Given the description of an element on the screen output the (x, y) to click on. 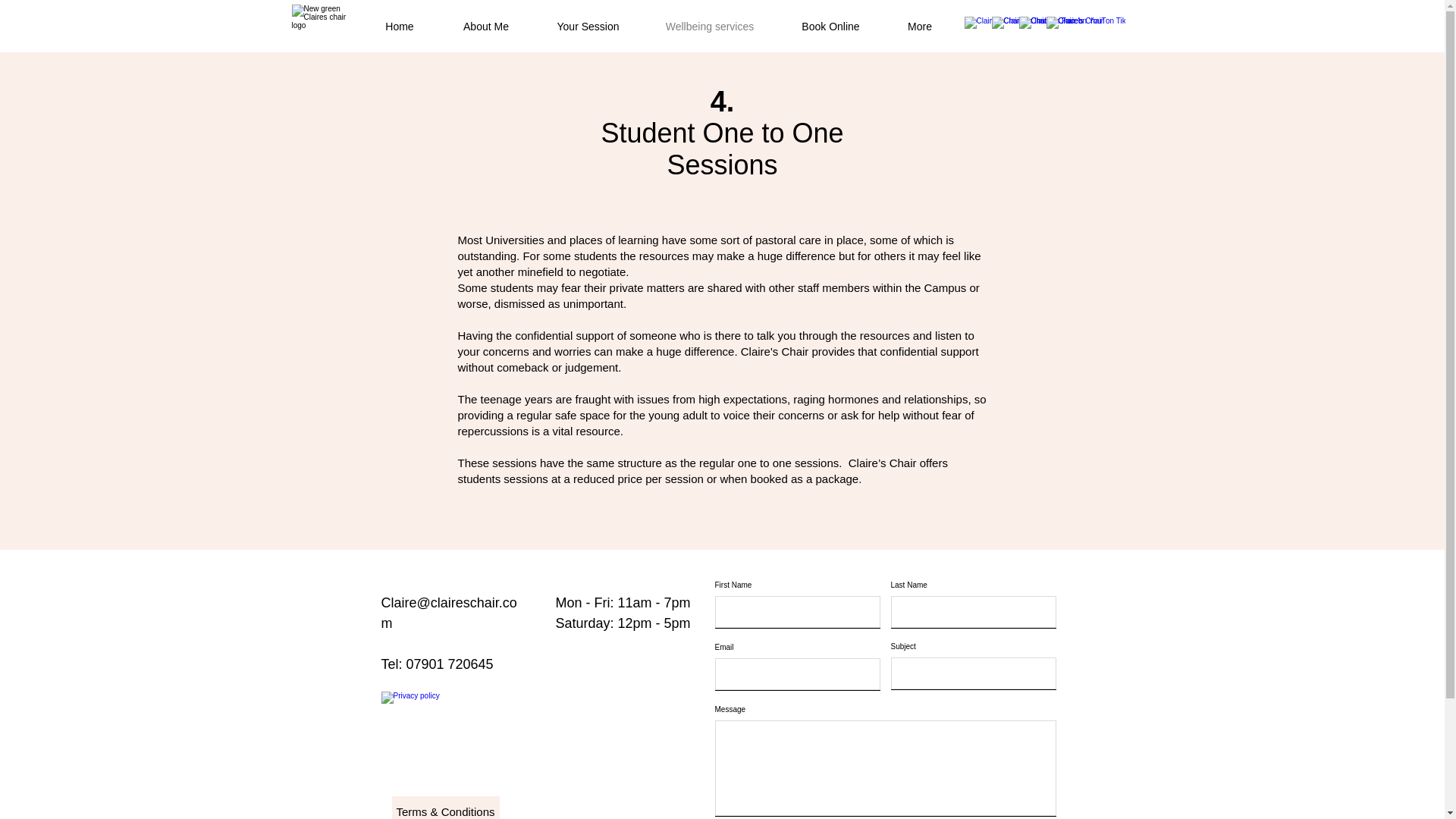
About Me (486, 26)
Book Online (830, 26)
Your Session (588, 26)
Wellbeing services (709, 26)
Home (399, 26)
